Given the description of an element on the screen output the (x, y) to click on. 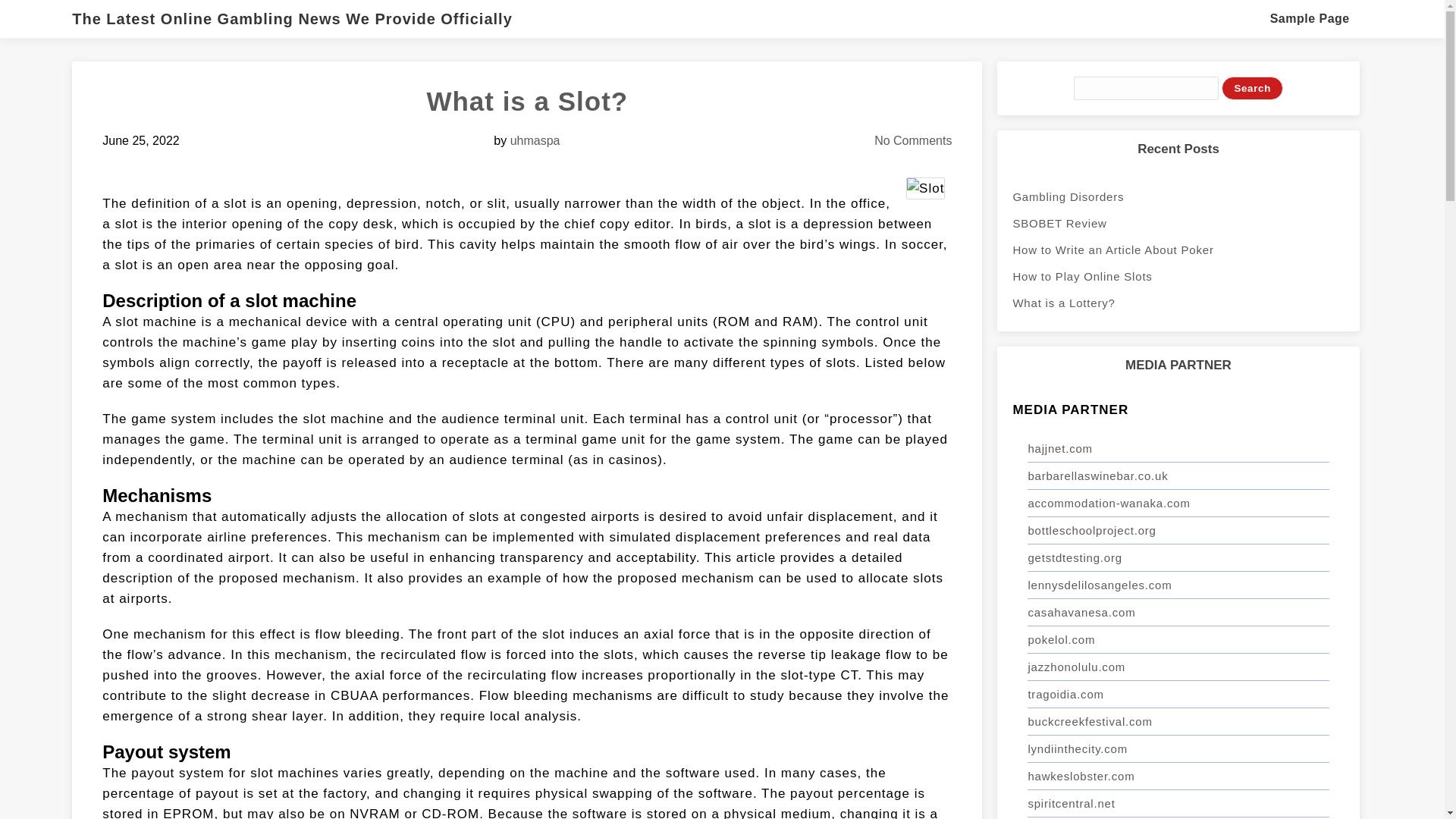
casahavanesa.com (1177, 612)
pokelol.com (1177, 639)
hawkeslobster.com (1177, 776)
accommodation-wanaka.com (1177, 502)
spiritcentral.net (1177, 803)
How to Write an Article About Poker (1177, 249)
uhmaspa (535, 140)
The Latest Online Gambling News We Provide Officially (299, 18)
hajjnet.com (1177, 448)
Posts by uhmaspa (535, 140)
